Given the description of an element on the screen output the (x, y) to click on. 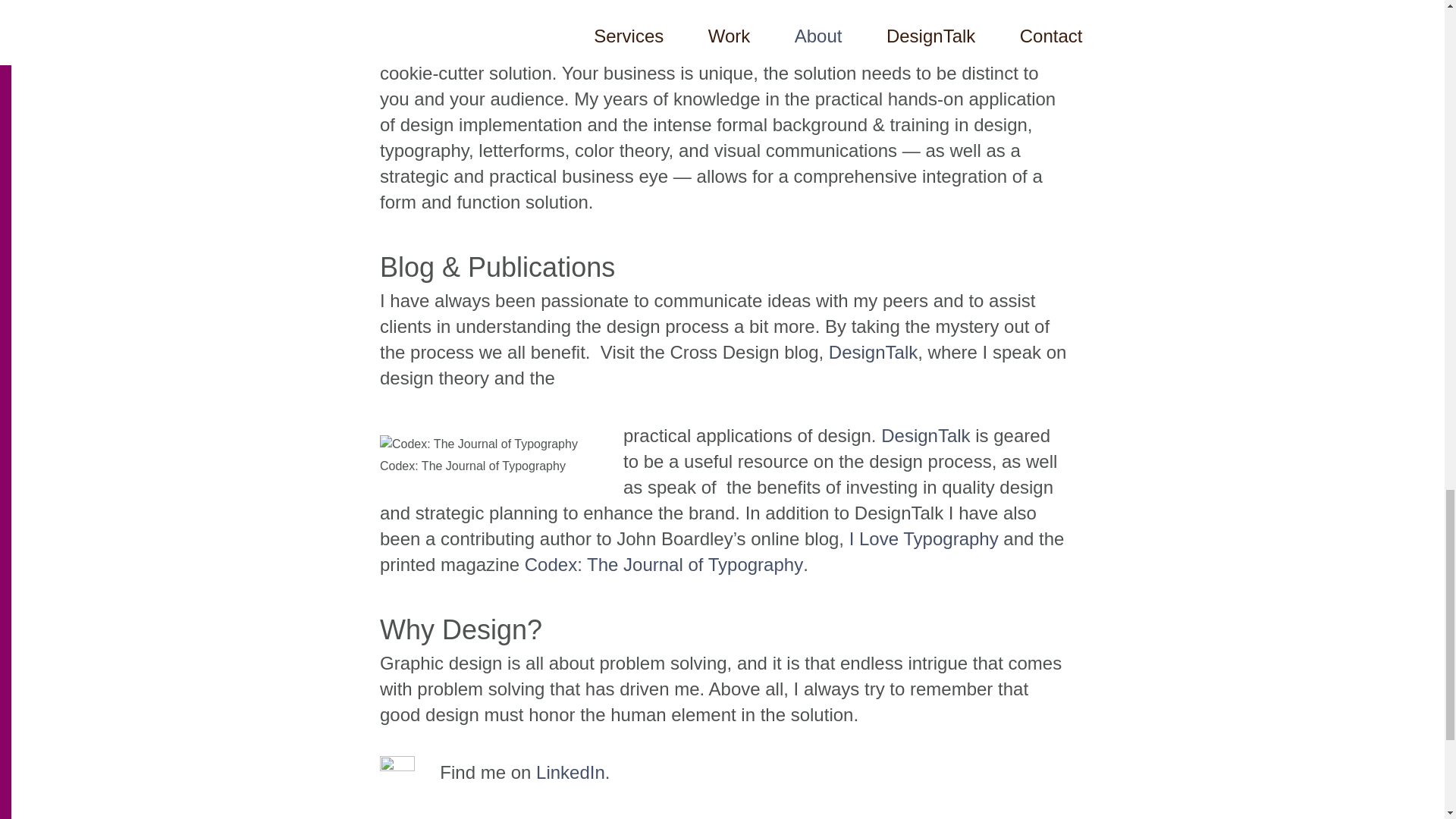
I Love Typography (923, 538)
DesignTalk (924, 435)
Codex: The Journal of Typography (663, 564)
LinkedIn (570, 772)
DesignTalk (872, 352)
